Given the description of an element on the screen output the (x, y) to click on. 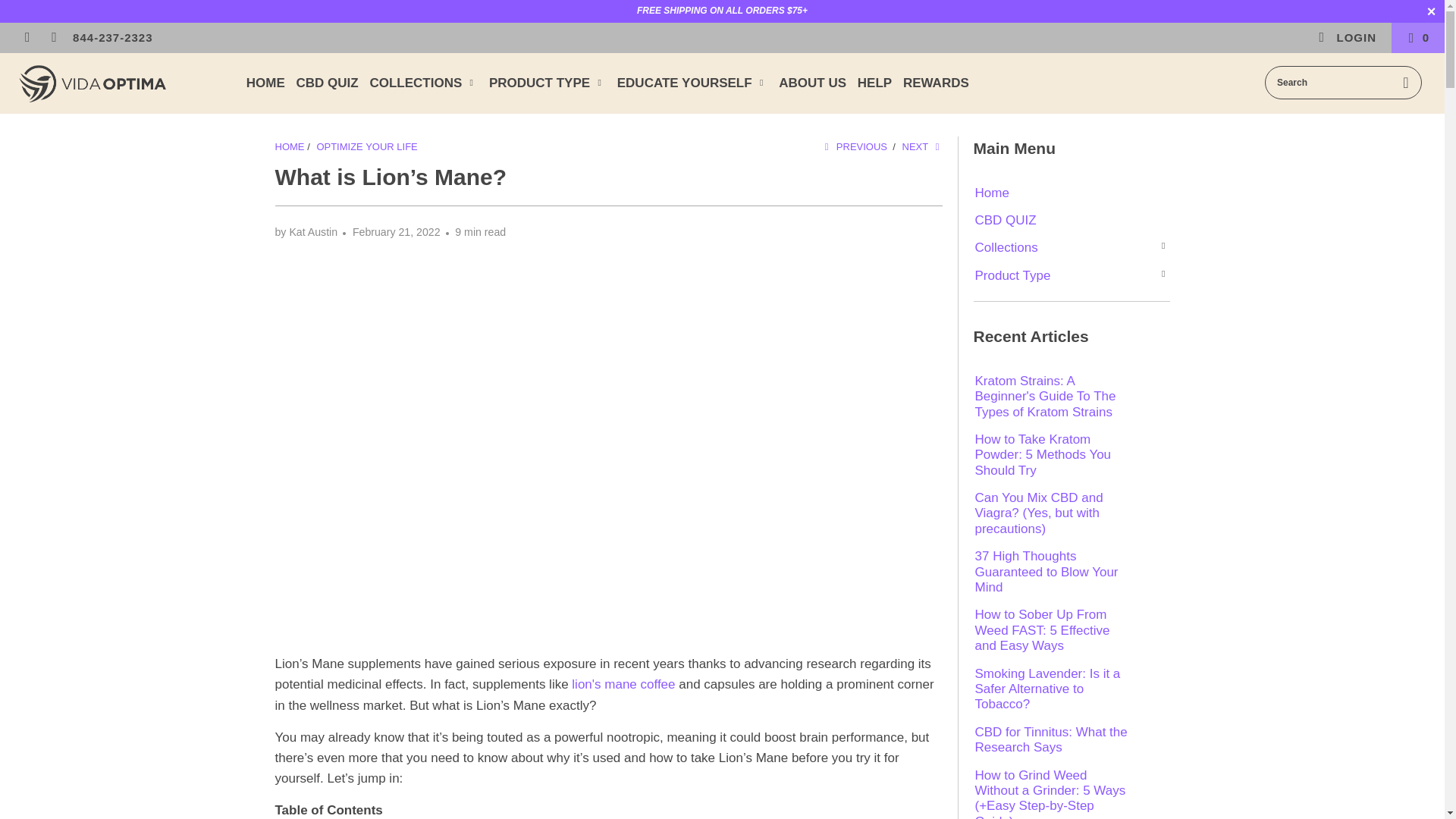
844-237-2323 (112, 37)
Optimize Your Life (365, 146)
My Account  (1346, 37)
